Given the description of an element on the screen output the (x, y) to click on. 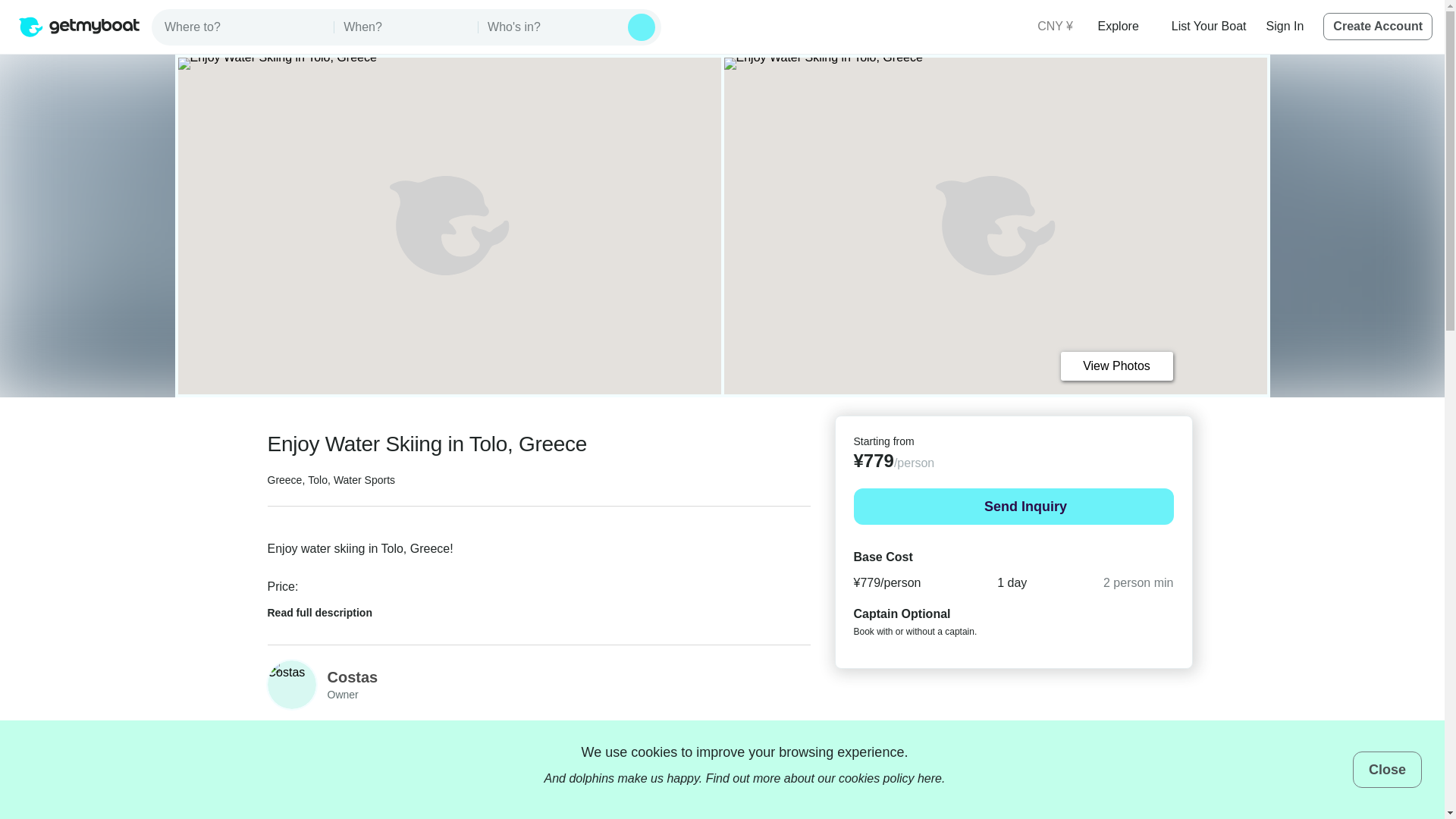
Send Inquiry (1013, 506)
Greece (283, 480)
Explore (1123, 25)
Sign In (1285, 26)
Read full description (329, 608)
Tolo (317, 480)
Create Account (1377, 26)
View Photos (1115, 366)
Search (641, 26)
Close (1387, 769)
cookies policy here (890, 778)
List Your Boat (1209, 26)
